Given the description of an element on the screen output the (x, y) to click on. 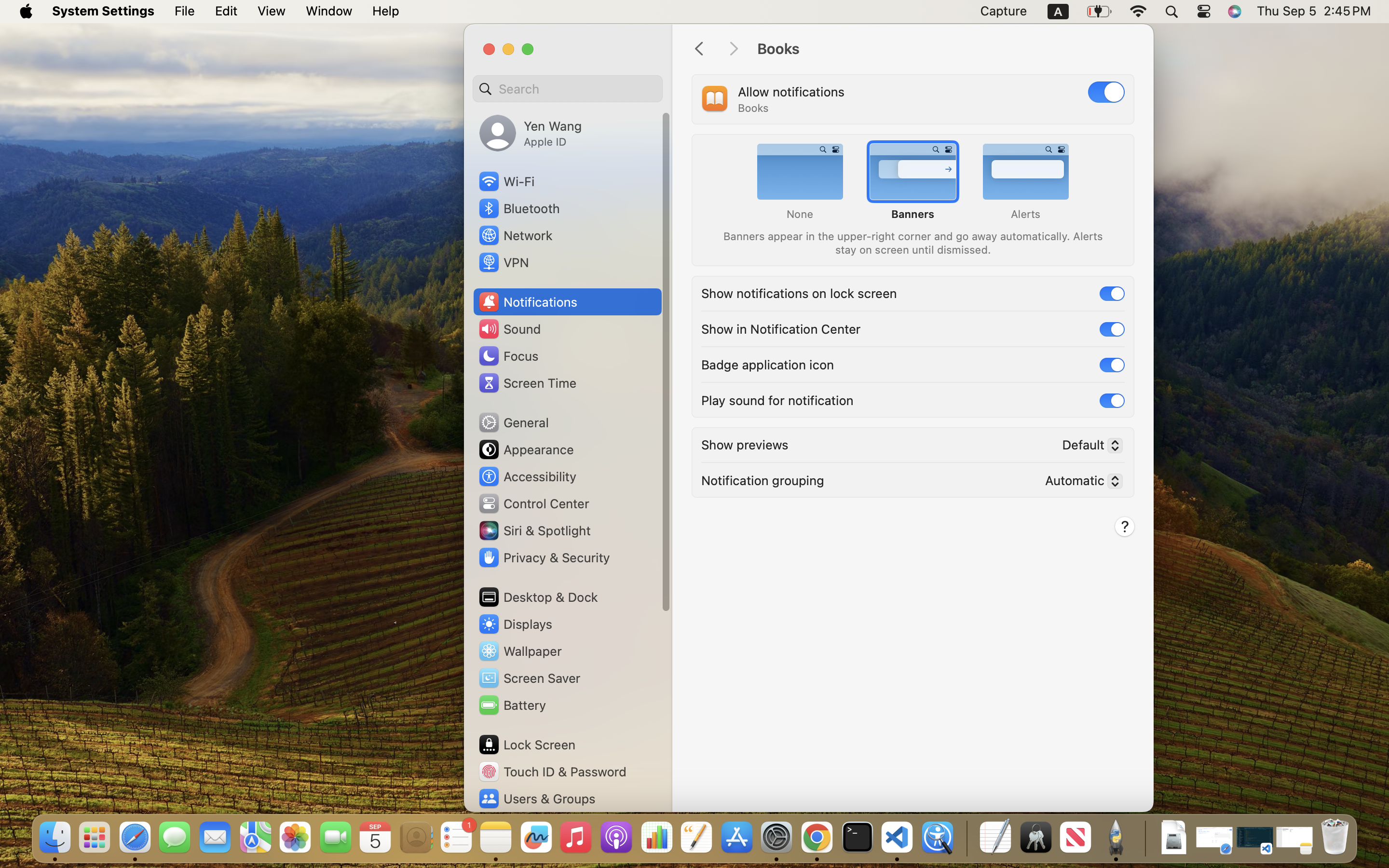
Play sound for notification Element type: AXStaticText (777, 398)
Yen Wang, Apple ID Element type: AXStaticText (530, 132)
Notifications Element type: AXStaticText (527, 301)
Books Element type: AXStaticText (945, 49)
Wallpaper Element type: AXStaticText (519, 650)
